Given the description of an element on the screen output the (x, y) to click on. 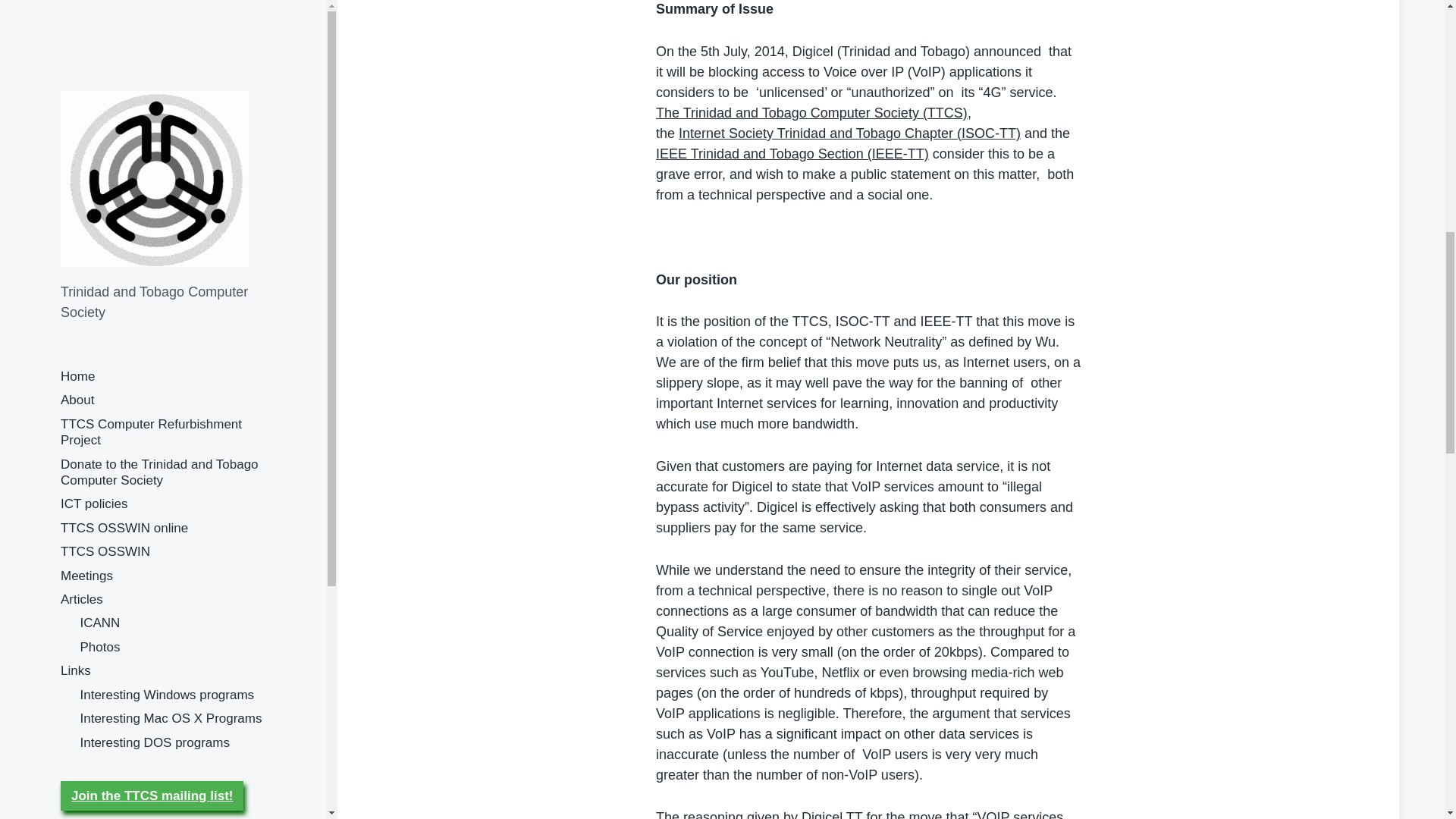
Toggle the search field (77, 253)
Log in (78, 123)
Comments feed (106, 161)
WordPress.org (104, 181)
Entries feed (95, 142)
